Given the description of an element on the screen output the (x, y) to click on. 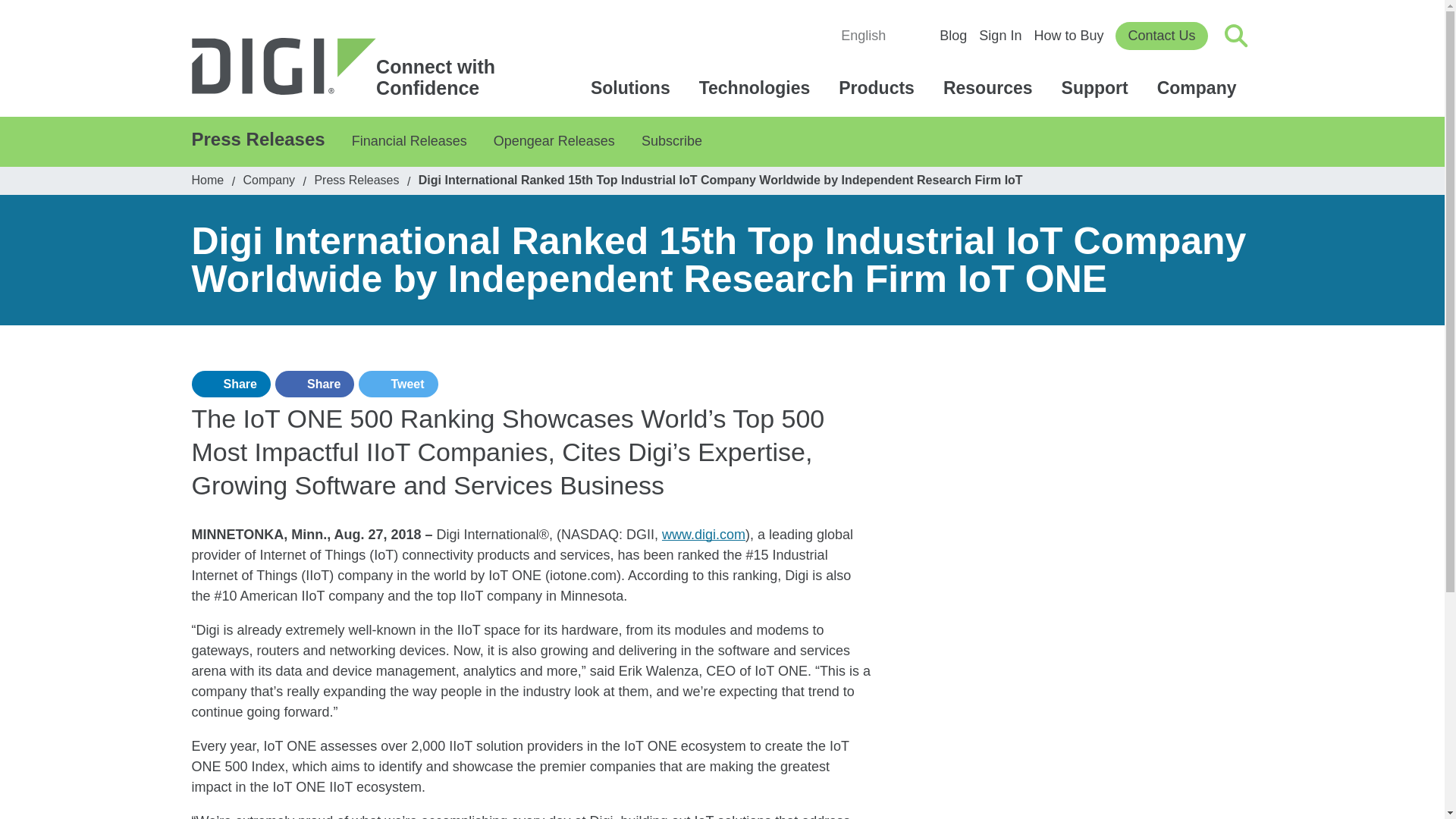
Share on LinkedIn (229, 384)
Technologies (757, 87)
Click to toggle solutions menu (632, 87)
Switch Language (870, 36)
Click to toggle products menu (879, 87)
How to Buy (349, 67)
Blog (1068, 35)
Sign In (952, 35)
Solutions (1000, 35)
